Given the description of an element on the screen output the (x, y) to click on. 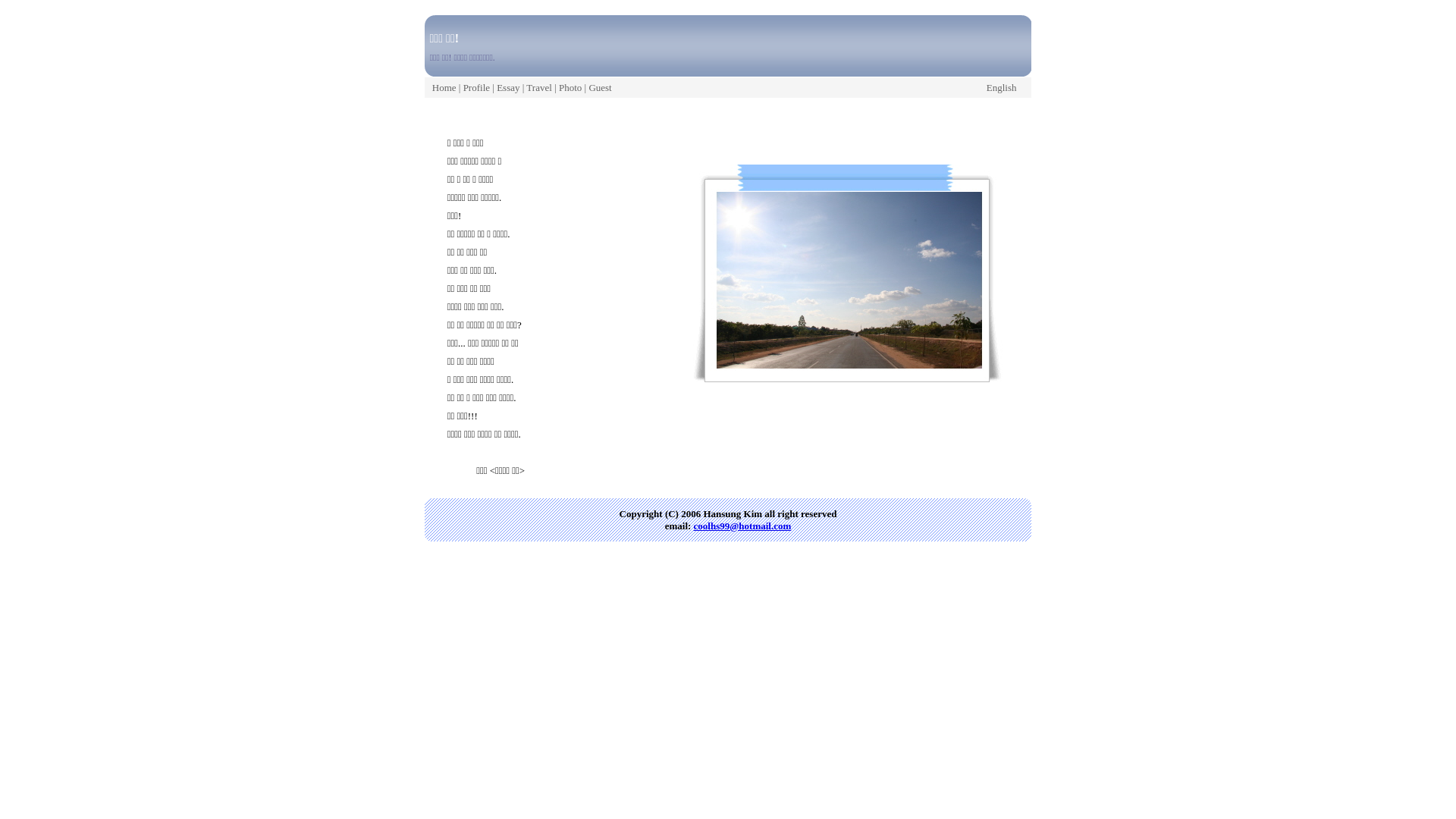
Photo Element type: text (569, 87)
Guest Element type: text (599, 87)
coolhs99@hotmail.com Element type: text (742, 525)
Profile Element type: text (476, 87)
English Element type: text (1001, 87)
Home Element type: text (444, 87)
Travel Element type: text (538, 87)
Essay Element type: text (507, 87)
